Given the description of an element on the screen output the (x, y) to click on. 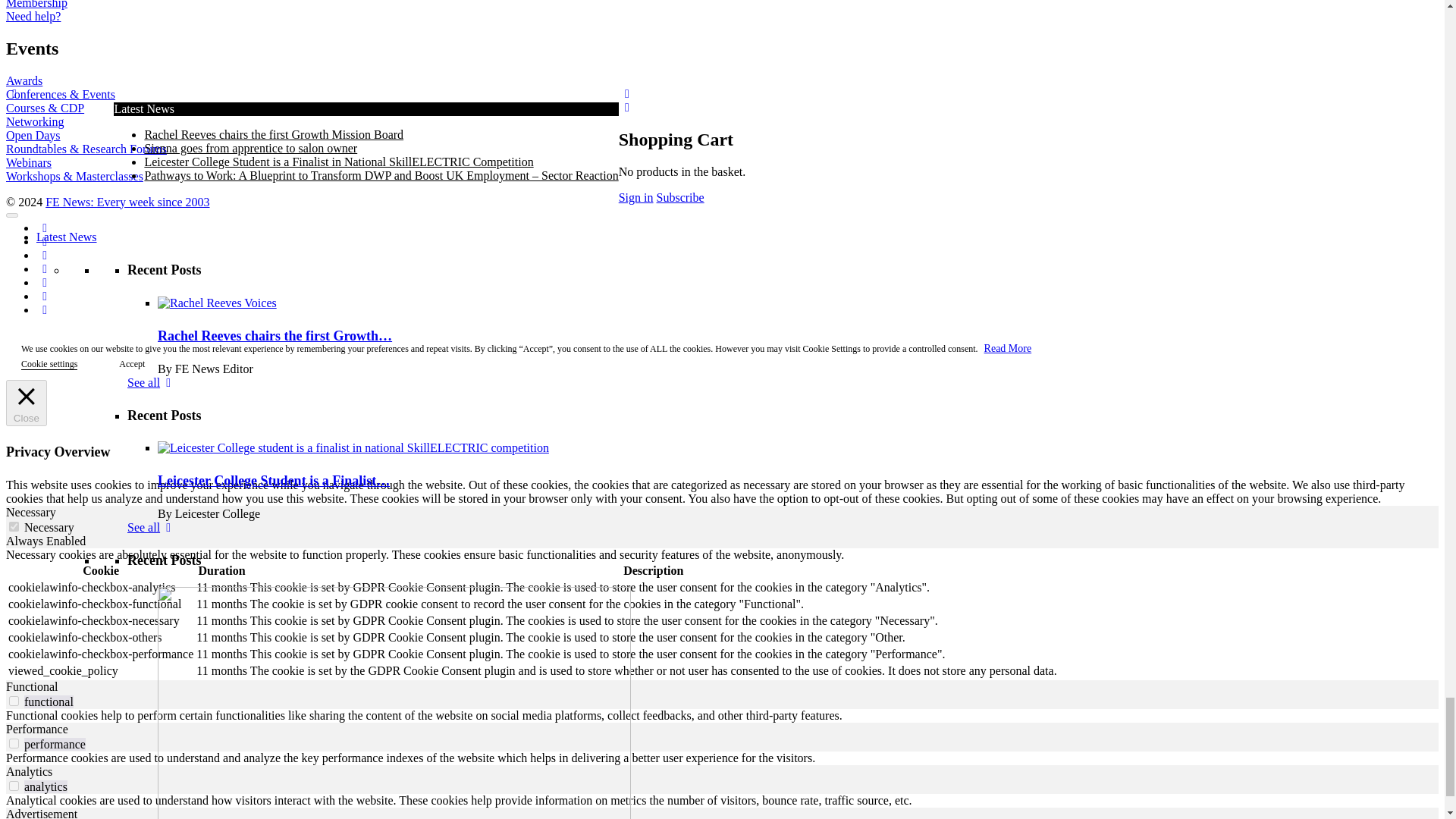
on (13, 526)
on (13, 700)
on (13, 743)
on (13, 786)
